Given the description of an element on the screen output the (x, y) to click on. 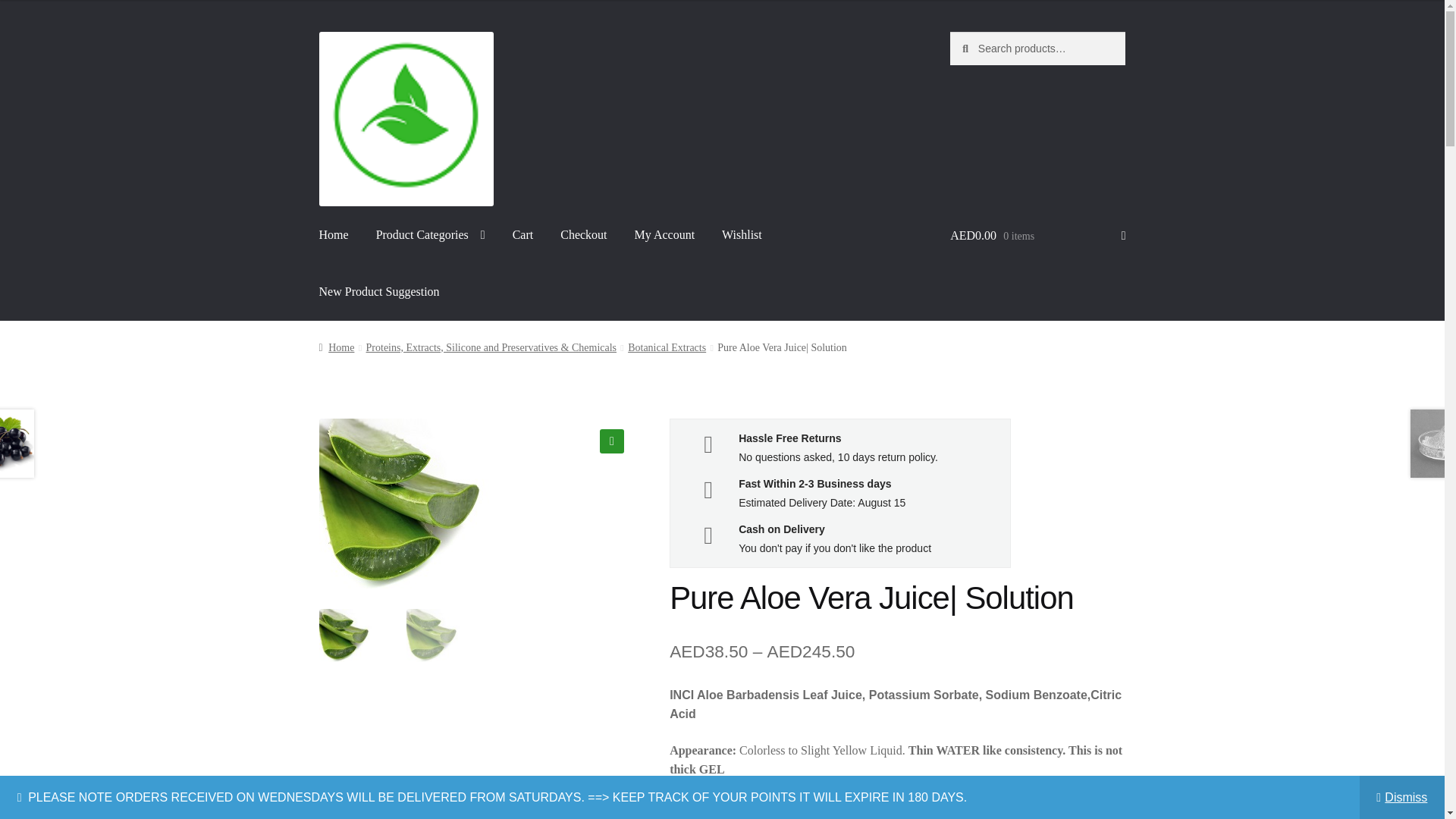
View your shopping cart (1037, 235)
Checkout (583, 234)
New Product Suggestion (379, 291)
Home (334, 234)
Wishlist (742, 234)
Product Categories (430, 234)
Aloe Vera Gel (719, 503)
My Account (665, 234)
